Given the description of an element on the screen output the (x, y) to click on. 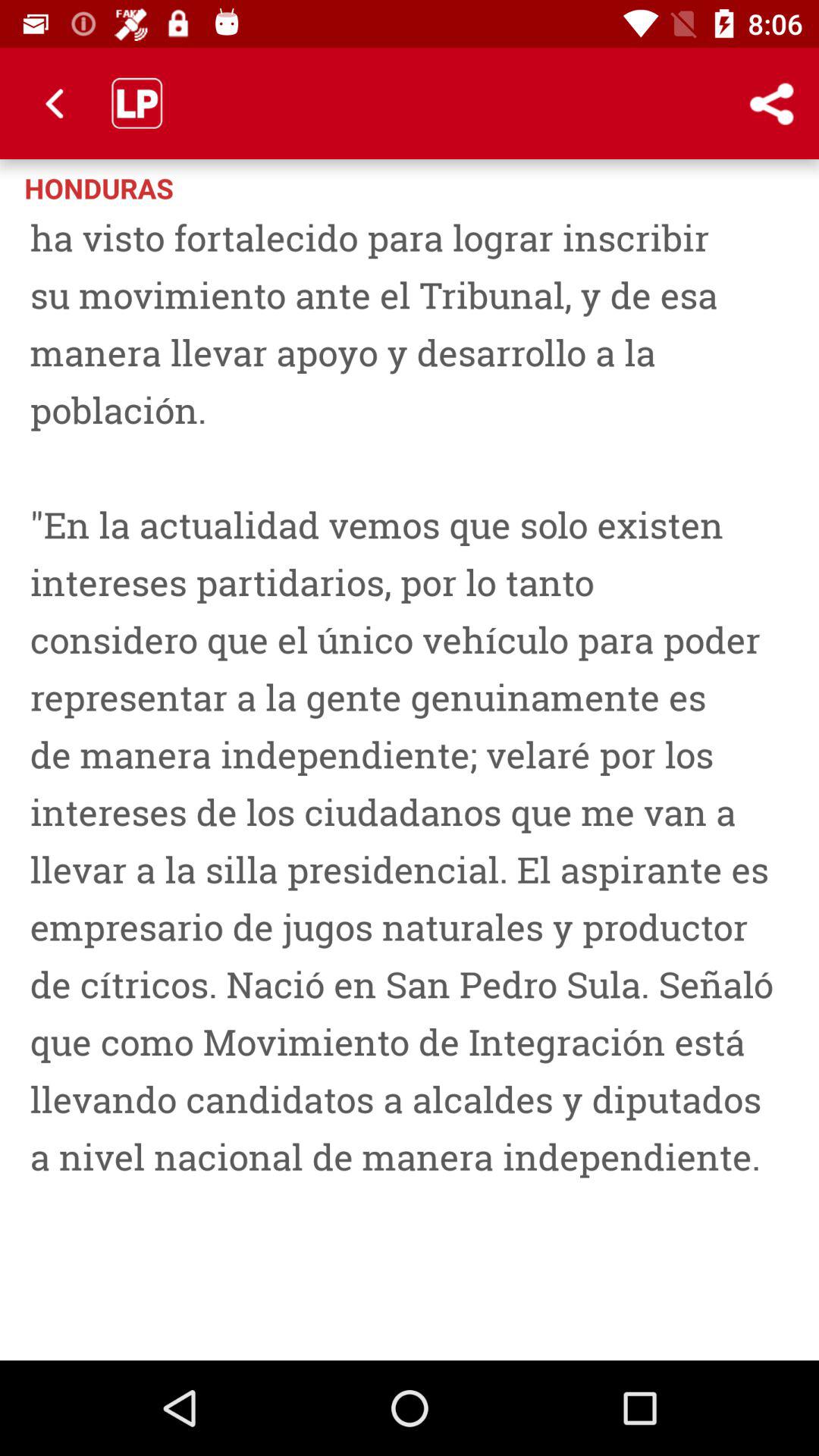
press icon above san pedro sula (709, 186)
